Given the description of an element on the screen output the (x, y) to click on. 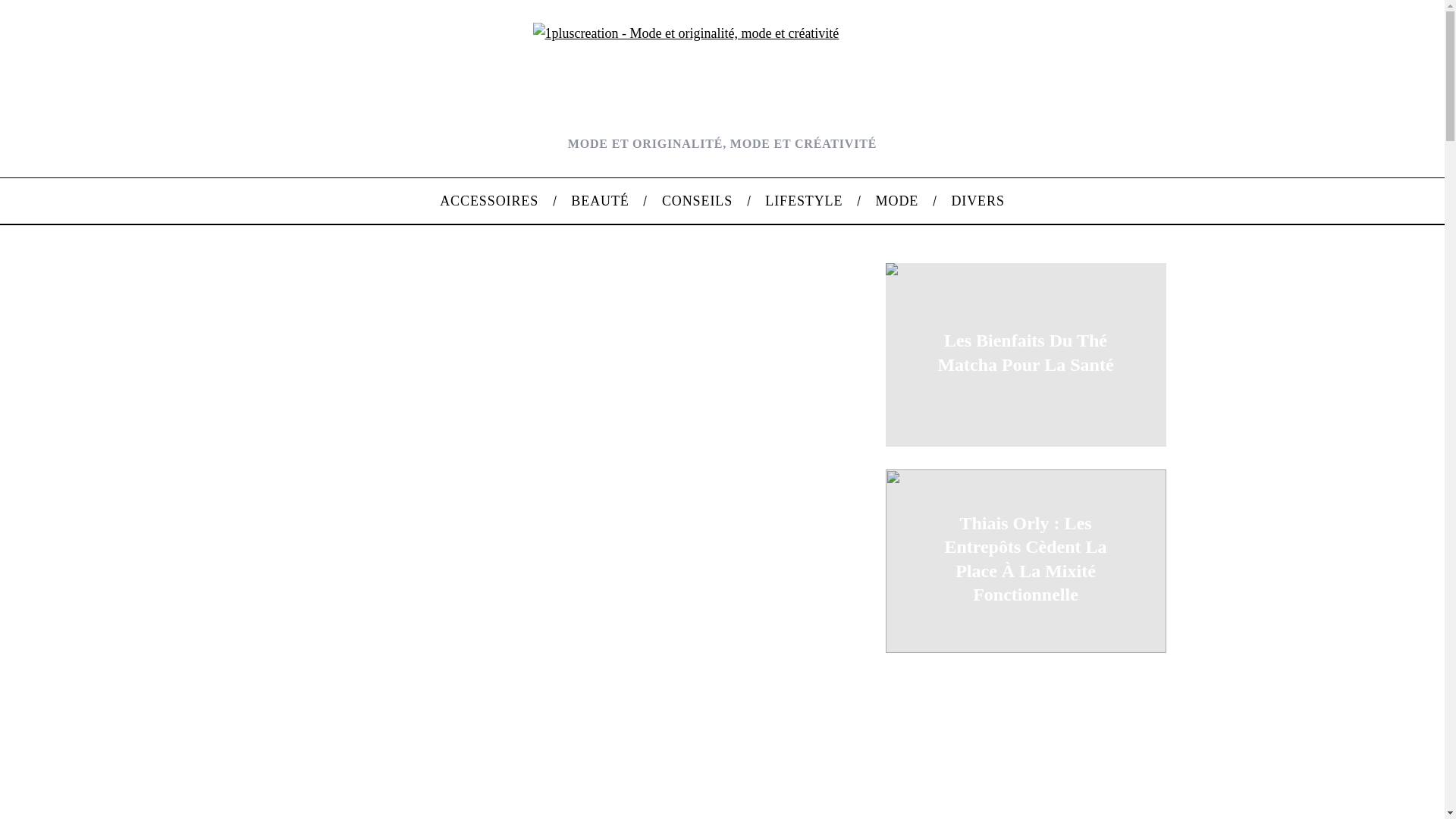
CONSEILS Element type: text (696, 200)
DIVERS Element type: text (978, 200)
MODE Element type: text (897, 200)
LIFESTYLE Element type: text (804, 200)
ACCESSOIRES Element type: text (489, 200)
